Given the description of an element on the screen output the (x, y) to click on. 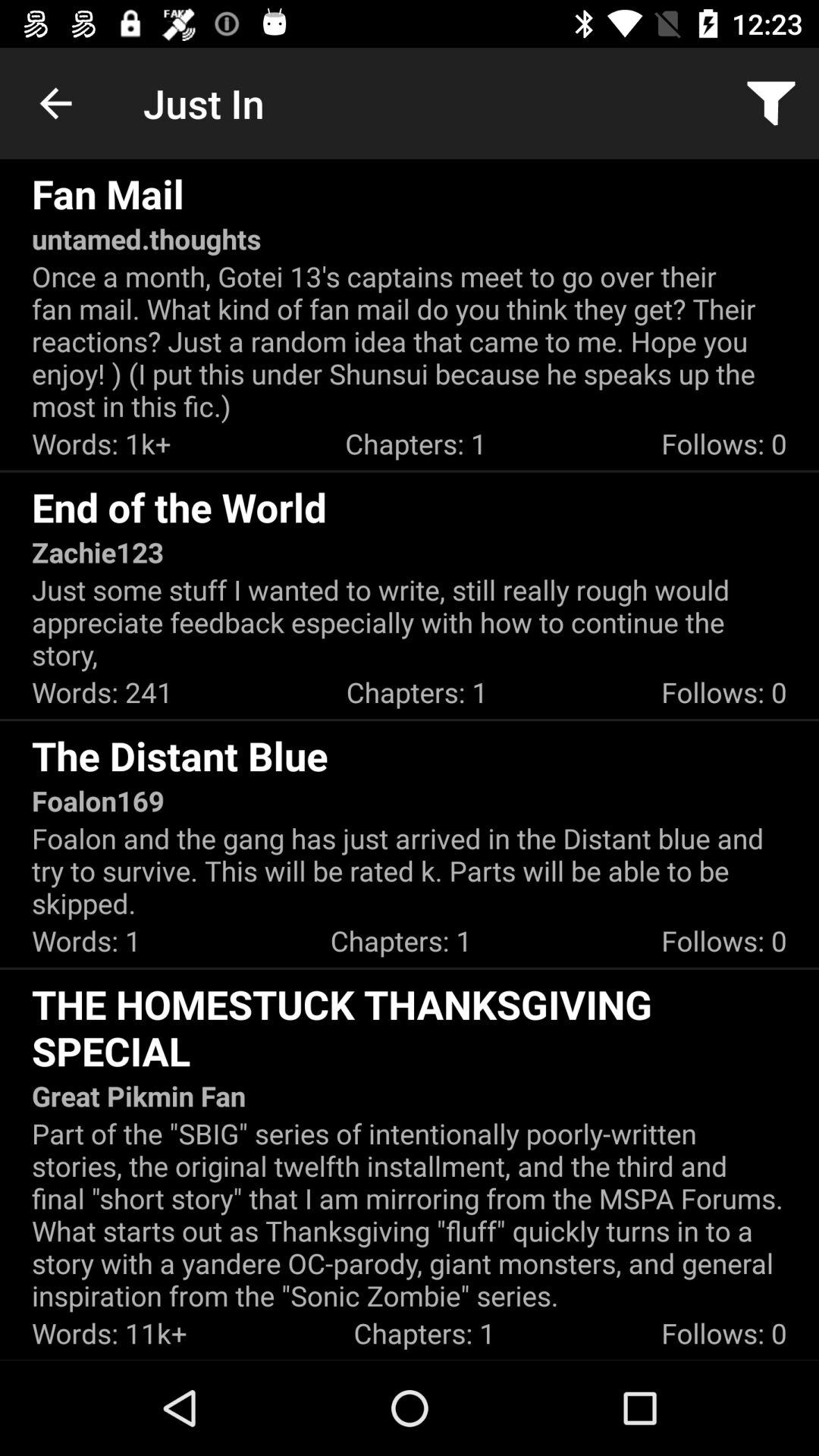
jump until the zachie123 (97, 552)
